Given the description of an element on the screen output the (x, y) to click on. 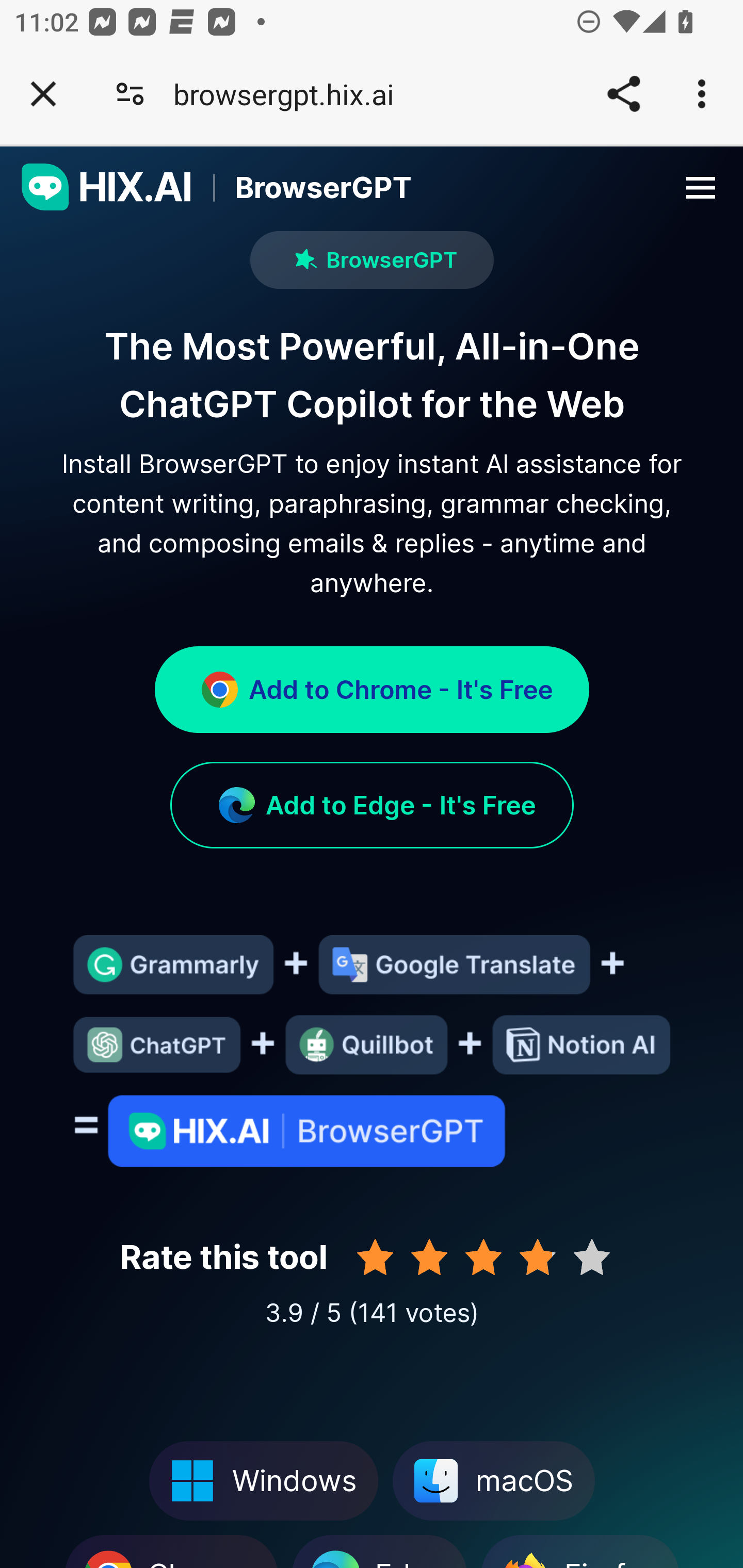
Close tab (43, 93)
Share (623, 93)
Customize and control Google Chrome (705, 93)
Connection is secure (129, 93)
browsergpt.hix.ai (290, 93)
hix (107, 188)
